Given the description of an element on the screen output the (x, y) to click on. 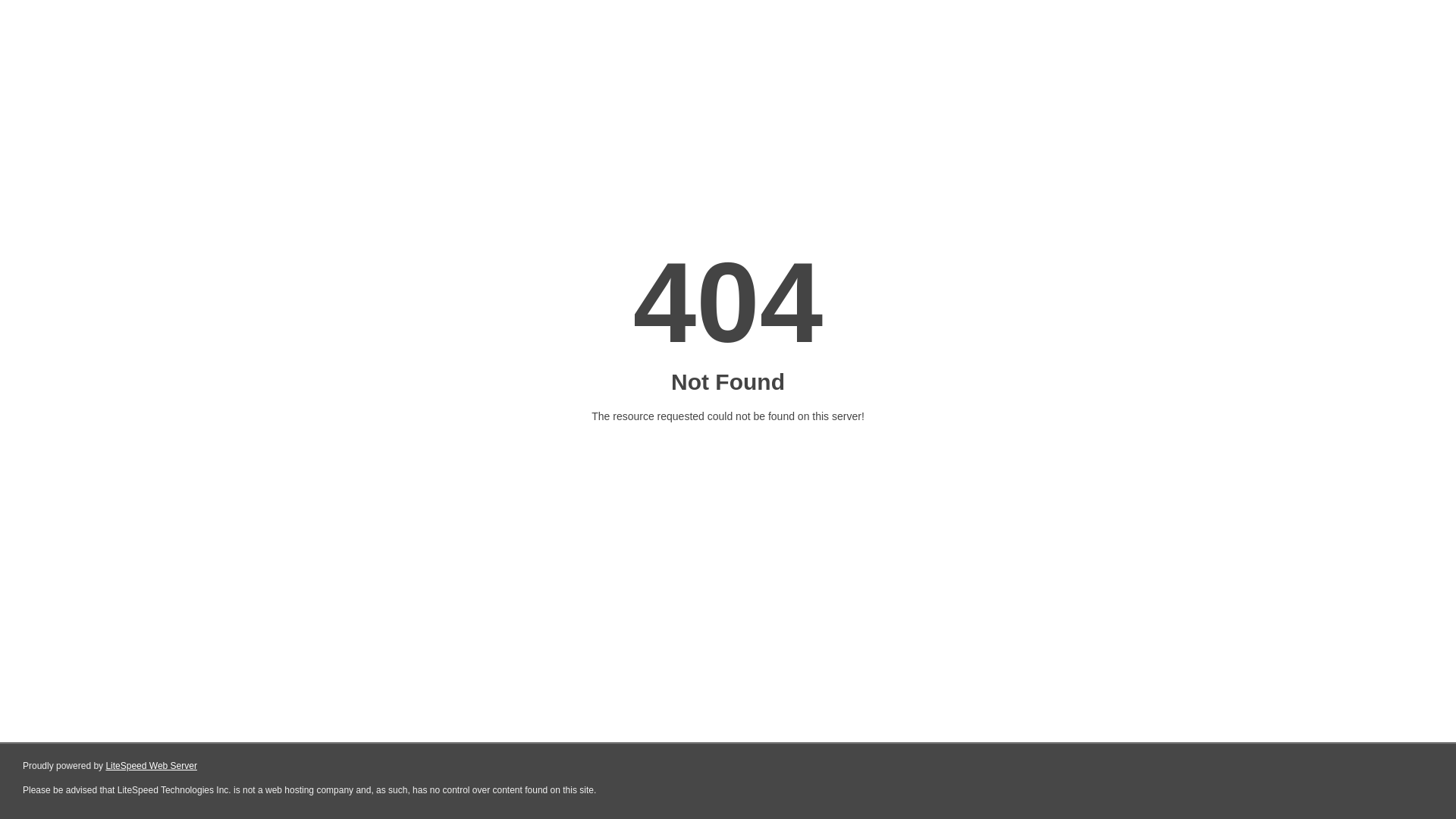
LiteSpeed Web Server (150, 765)
